Given the description of an element on the screen output the (x, y) to click on. 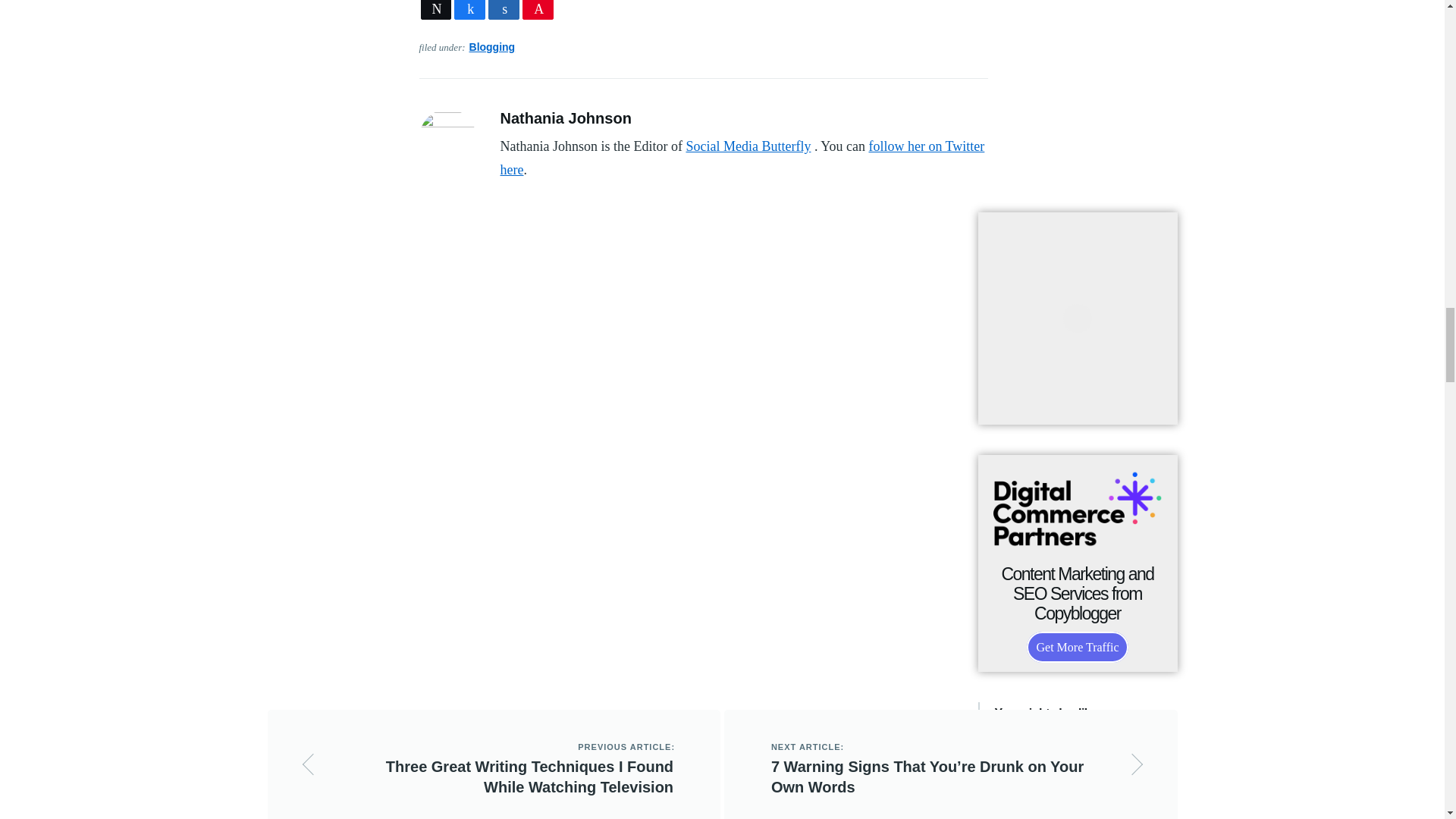
1 (537, 9)
9 (469, 9)
Blogging (491, 46)
